Given the description of an element on the screen output the (x, y) to click on. 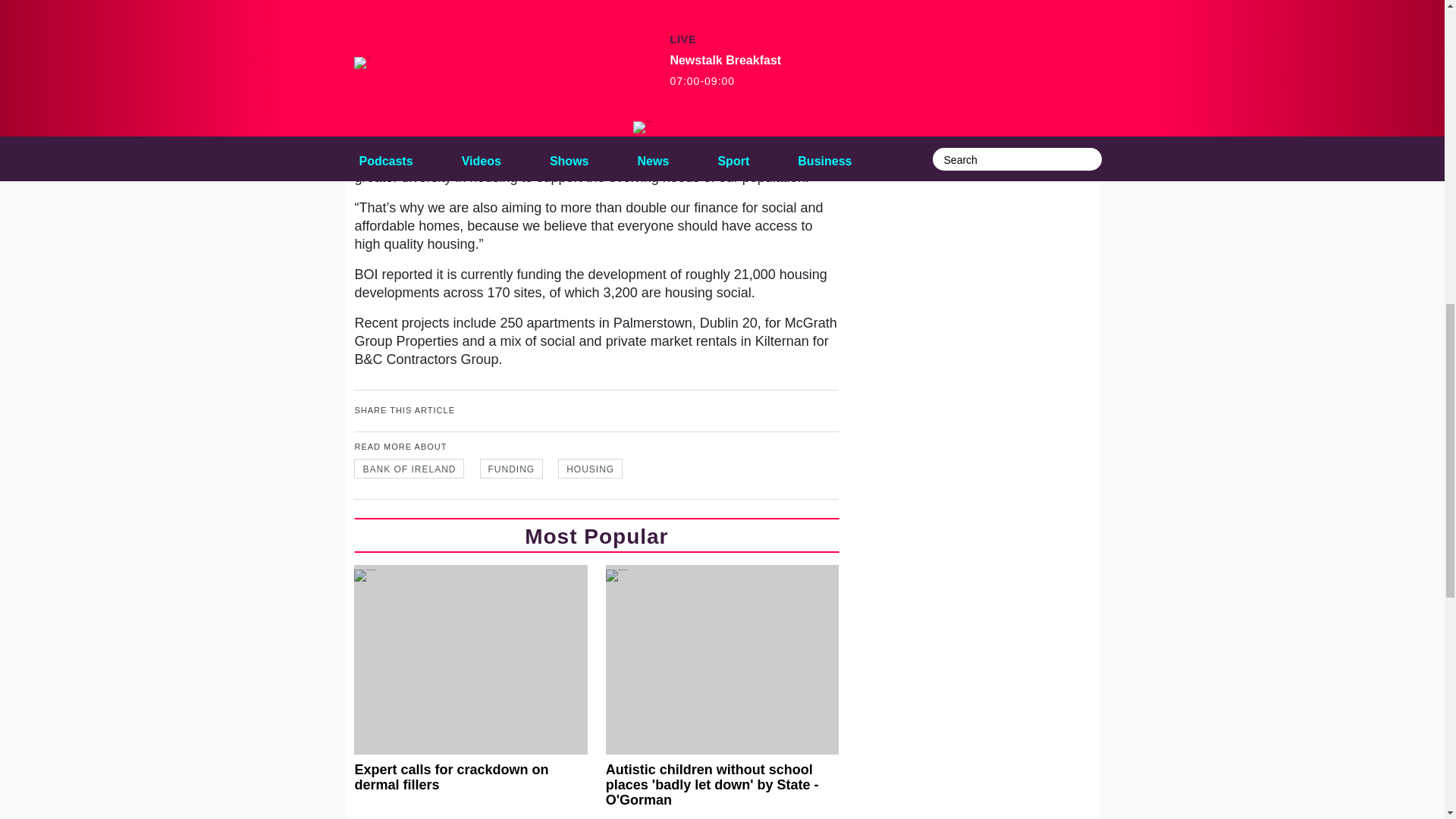
BANK OF IRELAND (408, 468)
HOUSING (590, 468)
Expert calls for crackdown on dermal fillers (469, 678)
FUNDING (511, 468)
